Given the description of an element on the screen output the (x, y) to click on. 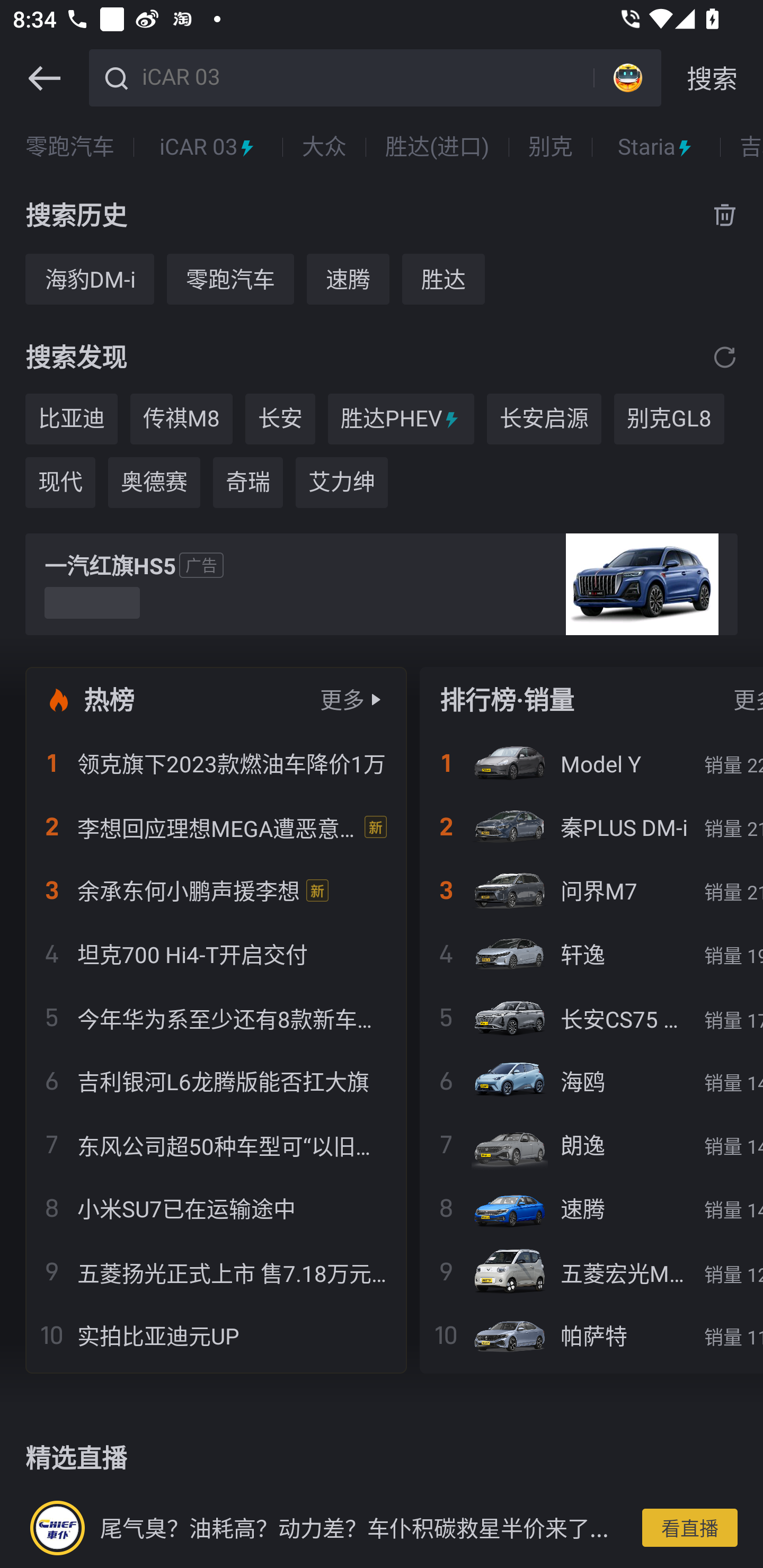
 iCAR 03 (364, 76)
 (44, 78)
搜索 (711, 78)
零跑汽车 (69, 147)
iCAR 03 (208, 147)
大众 (324, 147)
胜达(进口) (437, 147)
别克 (550, 147)
Staria (656, 147)
海豹DM-i (89, 278)
零跑汽车 (230, 278)
速腾 (347, 278)
胜达 (443, 278)
 (724, 357)
比亚迪 (71, 418)
传祺M8 (181, 418)
长安 (280, 418)
胜达PHEV (401, 418)
长安启源 (543, 418)
别克GL8 (669, 418)
现代 (60, 482)
奥德赛 (153, 482)
奇瑞 (247, 482)
艾力绅 (341, 482)
一汽红旗HS5 广告 预约试驾 (381, 584)
更多 (341, 699)
领克旗下2023款燃油车降价1万 (215, 763)
Model Y 销量 22537 (591, 763)
李想回应理想MEGA遭恶意P图 (215, 826)
秦PLUS DM-i 销量 21268 (591, 826)
余承东何小鹏声援李想 (215, 890)
问界M7 销量 21083 (591, 890)
坦克700 Hi4-T开启交付 (215, 953)
轩逸 销量 19878 (591, 953)
今年华为系至少还有8款新车要来 (215, 1017)
长安CS75 PLUS 销量 17303 (591, 1017)
吉利银河L6龙腾版能否扛大旗 (215, 1080)
海鸥 销量 14403 (591, 1080)
东风公司超50种车型可“以旧换新” (215, 1144)
朗逸 销量 14400 (591, 1144)
小米SU7已在运输途中 (215, 1208)
速腾 销量 14209 (591, 1208)
五菱扬光正式上市 售7.18万元起 (215, 1271)
五菱宏光MINIEV 销量 12649 (591, 1271)
实拍比亚迪元UP (215, 1335)
帕萨特 销量 11641 (591, 1335)
尾气臭？油耗高？动力差？车仆积碳救星半价来了... 看直播 (381, 1526)
